Given the description of an element on the screen output the (x, y) to click on. 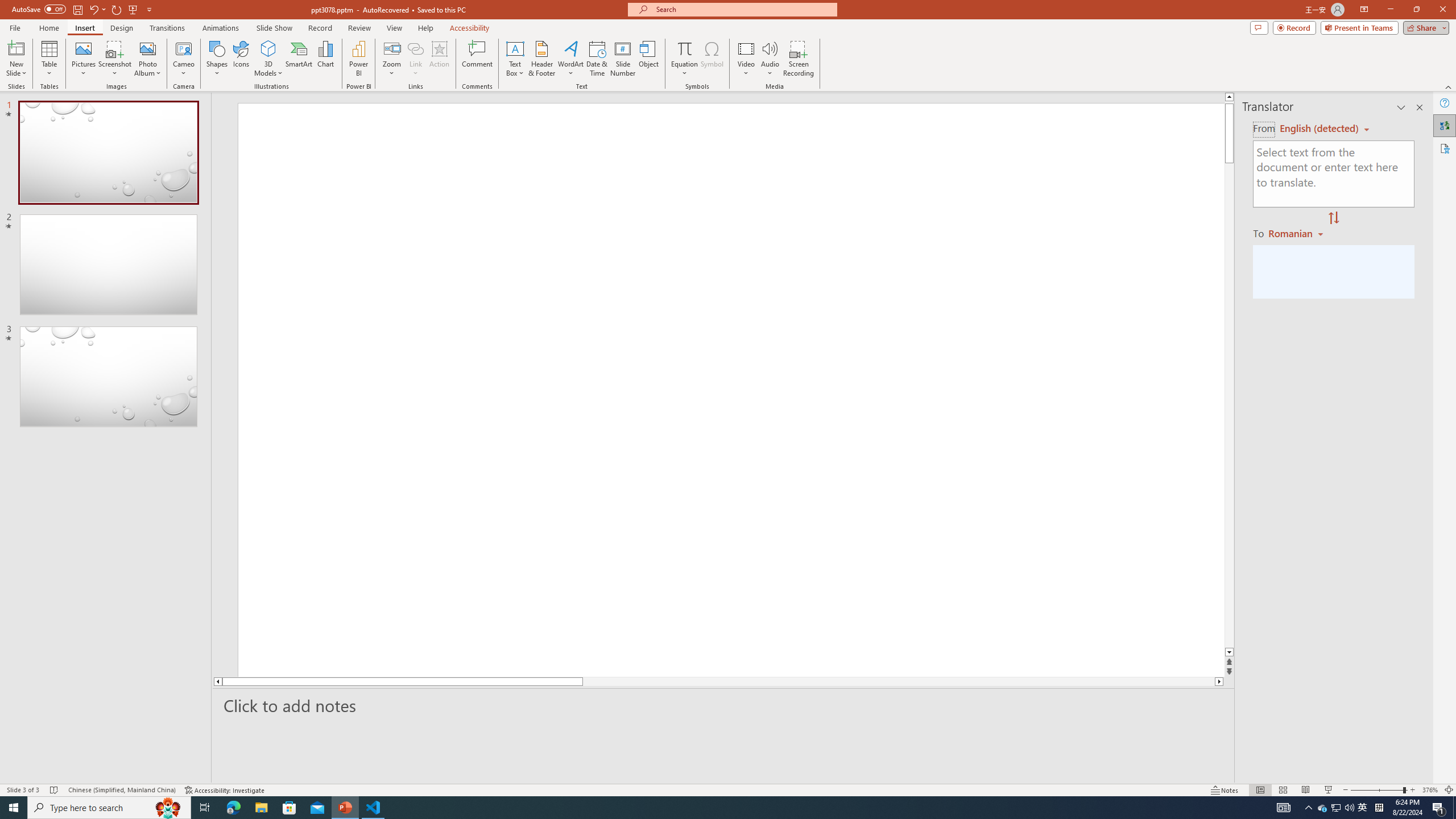
Power BI (358, 58)
Video (745, 58)
